Given the description of an element on the screen output the (x, y) to click on. 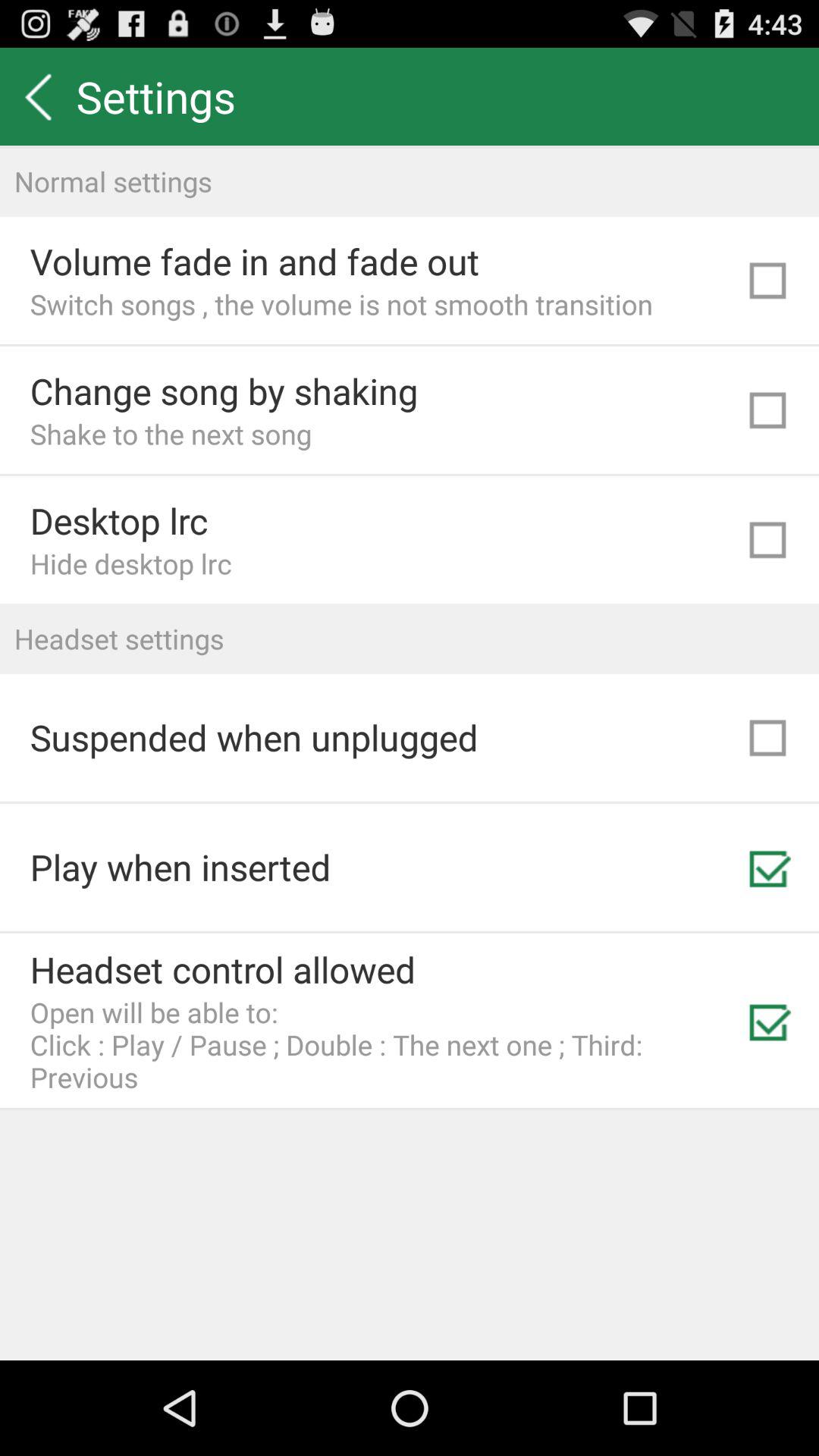
press app below hide desktop lrc app (409, 638)
